Given the description of an element on the screen output the (x, y) to click on. 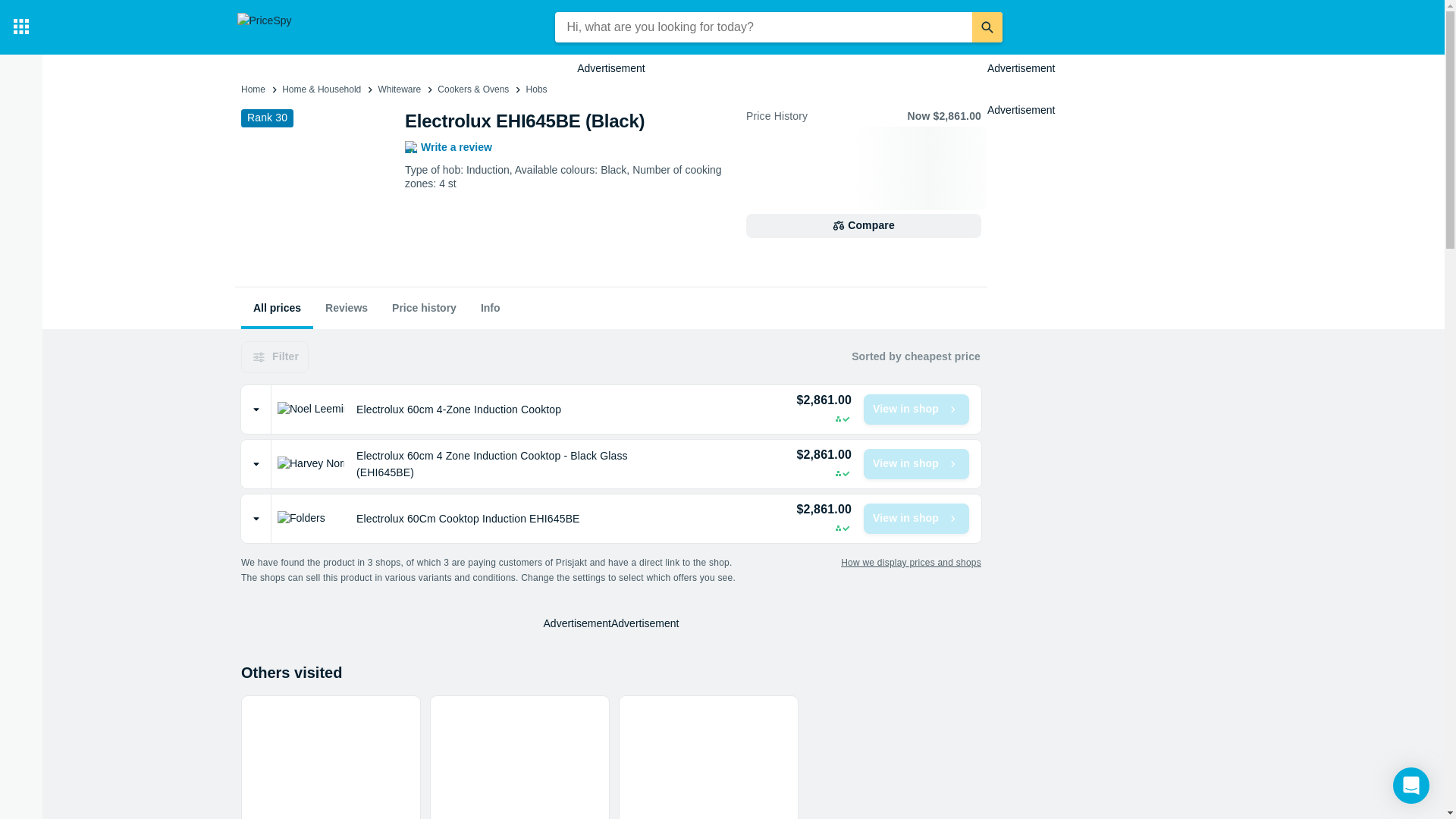
Write a review (448, 147)
Price history (424, 308)
View in shop (916, 518)
How we display prices and shops (911, 562)
View in shop (916, 409)
All prices (277, 308)
Whiteware (398, 89)
Compare (863, 225)
Rank 30 (267, 117)
Info (490, 308)
